Given the description of an element on the screen output the (x, y) to click on. 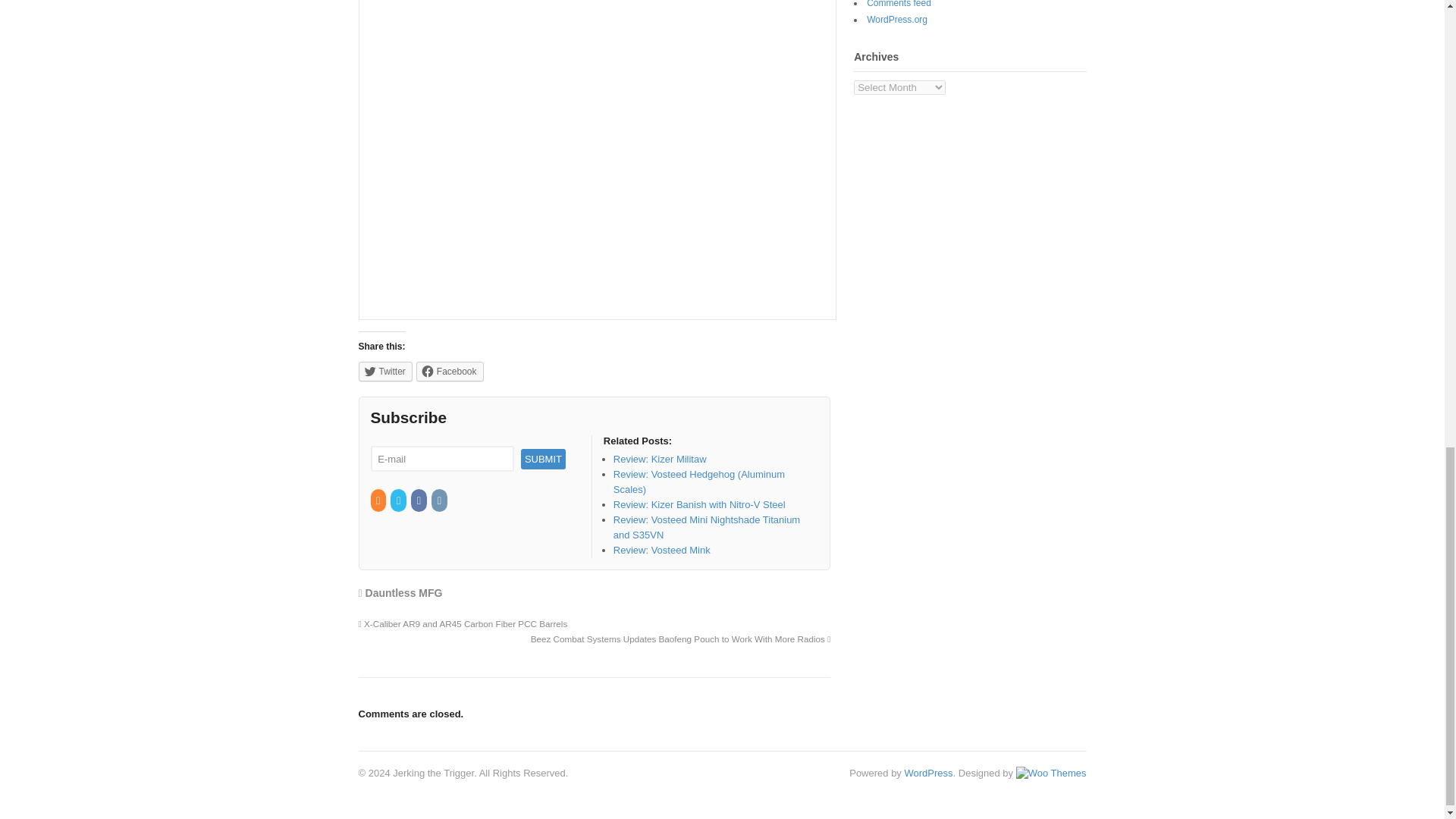
X-Caliber AR9 and AR45 Carbon Fiber PCC Barrels (462, 623)
Review: Kizer Militaw (659, 459)
Review: Kizer Banish with Nitro-V Steel (699, 504)
Review: Vosteed Mini Nightshade Titanium and S35VN (705, 527)
RSS (378, 500)
Click to share on Twitter (385, 371)
Facebook (449, 371)
Review: Kizer Militaw (659, 459)
Dauntless MFG (403, 592)
Twitter (398, 500)
